Given the description of an element on the screen output the (x, y) to click on. 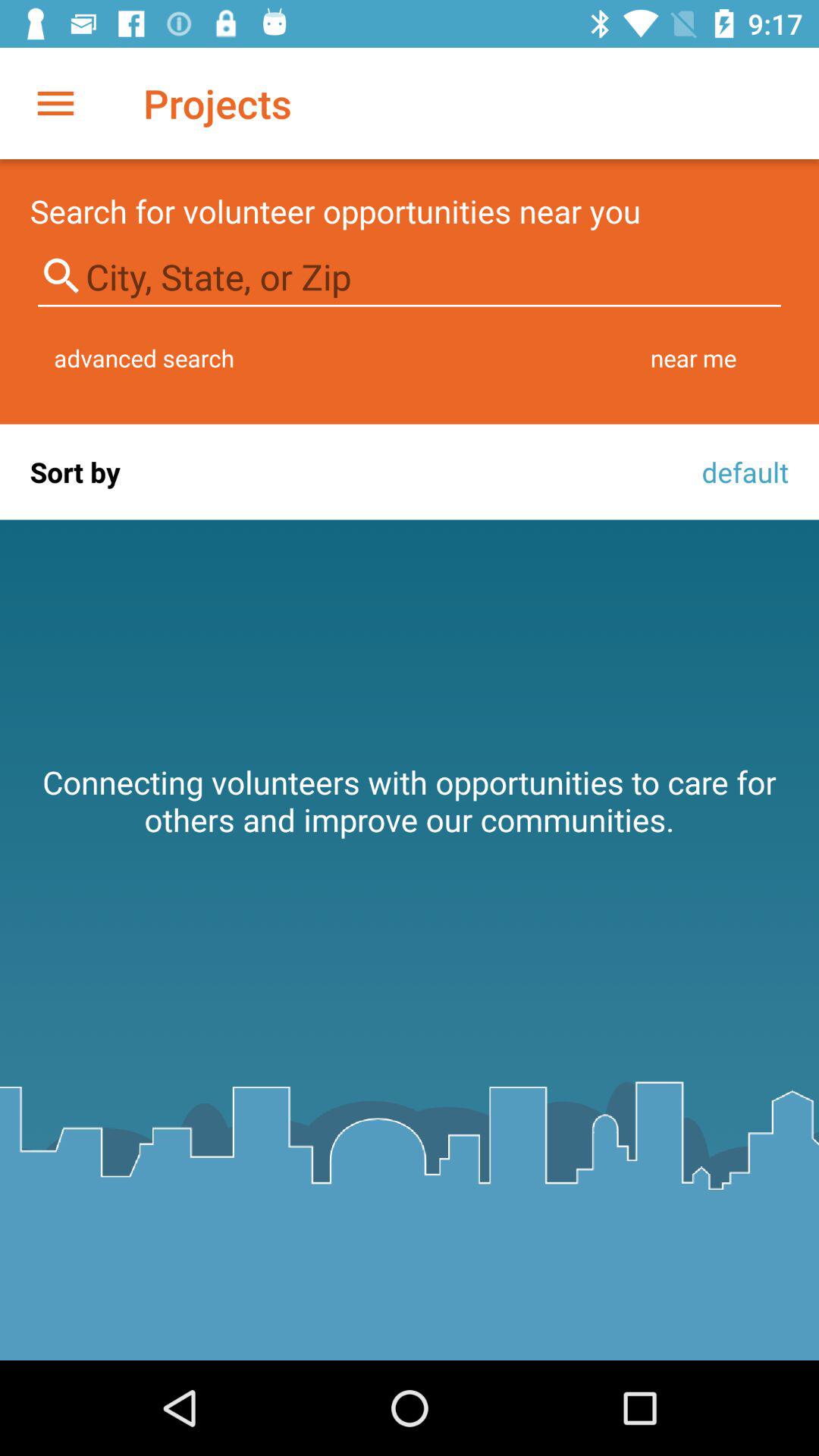
tap the item above the connecting volunteers with icon (740, 471)
